Given the description of an element on the screen output the (x, y) to click on. 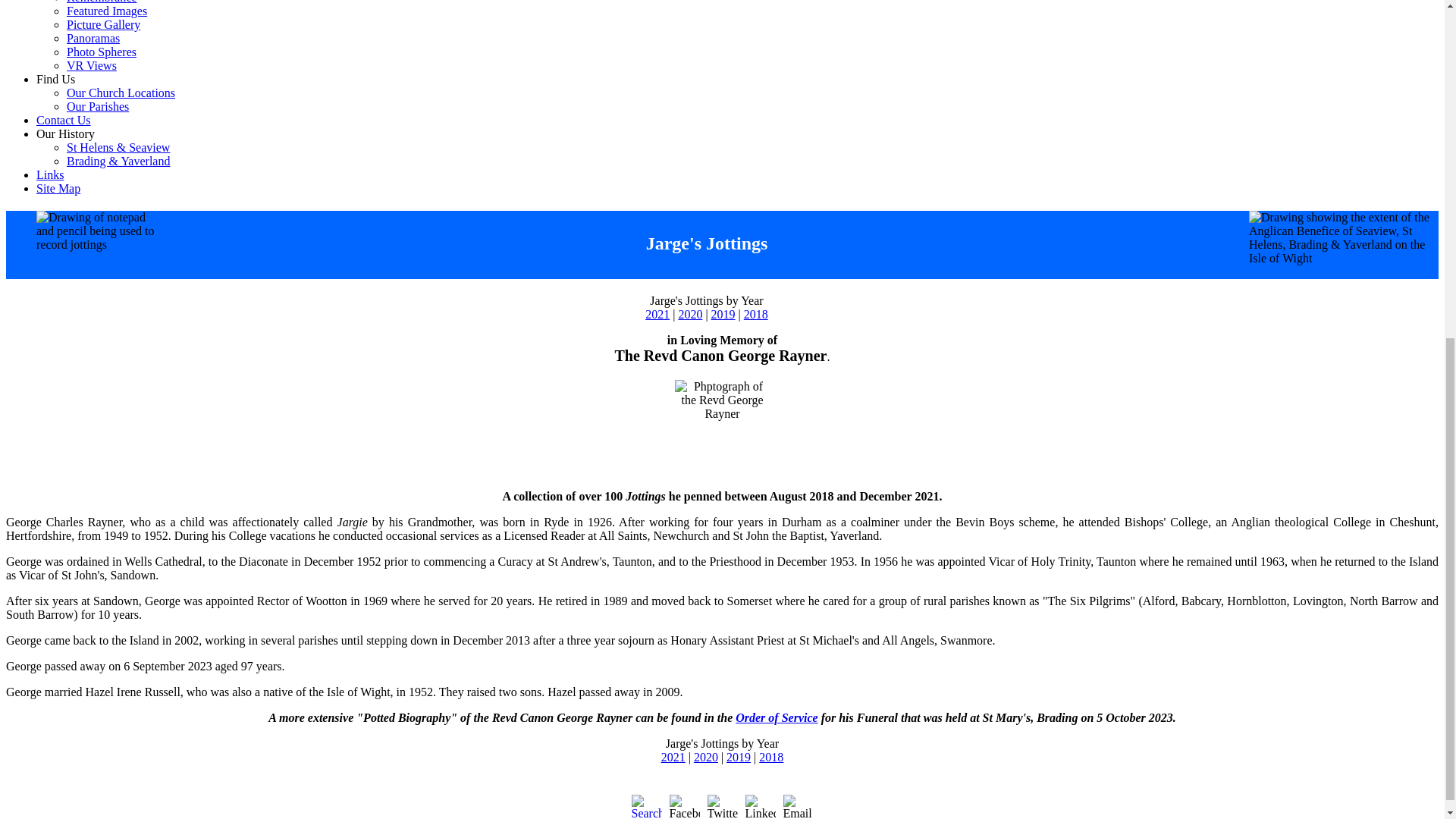
Photo Spheres (101, 51)
Notepad with pencil being used to record jottings (100, 230)
Panoramas (92, 38)
Featured Images (106, 10)
Remembrance (101, 2)
Picture Gallery (102, 24)
Revd George Rayner (722, 427)
